Given the description of an element on the screen output the (x, y) to click on. 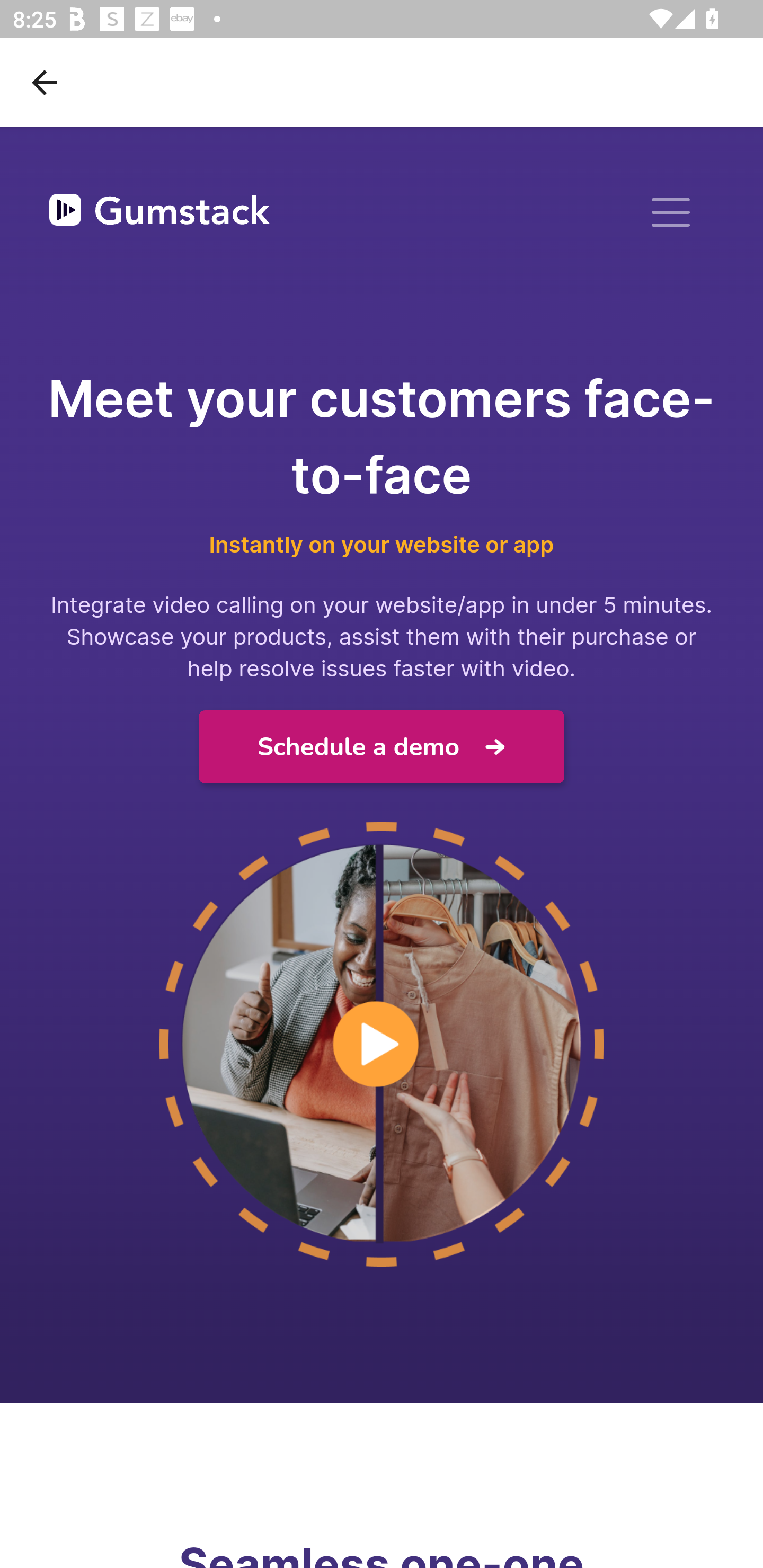
Navigate up (44, 82)
Gumstack Logo (159, 212)
Toggle navigation (670, 212)
Schedule a demo Sorry image is not available (381, 747)
Image not available (381, 1044)
